Given the description of an element on the screen output the (x, y) to click on. 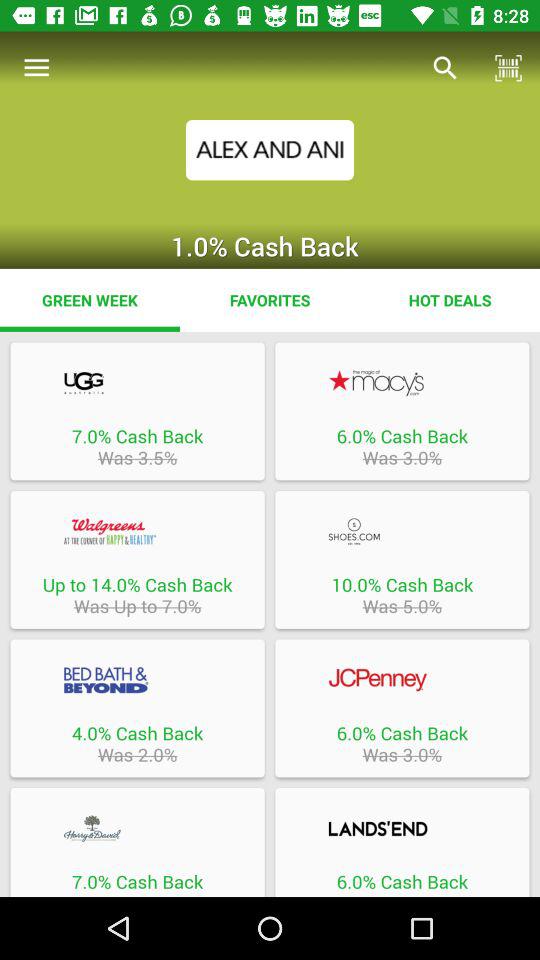
header to the logo (137, 382)
